Given the description of an element on the screen output the (x, y) to click on. 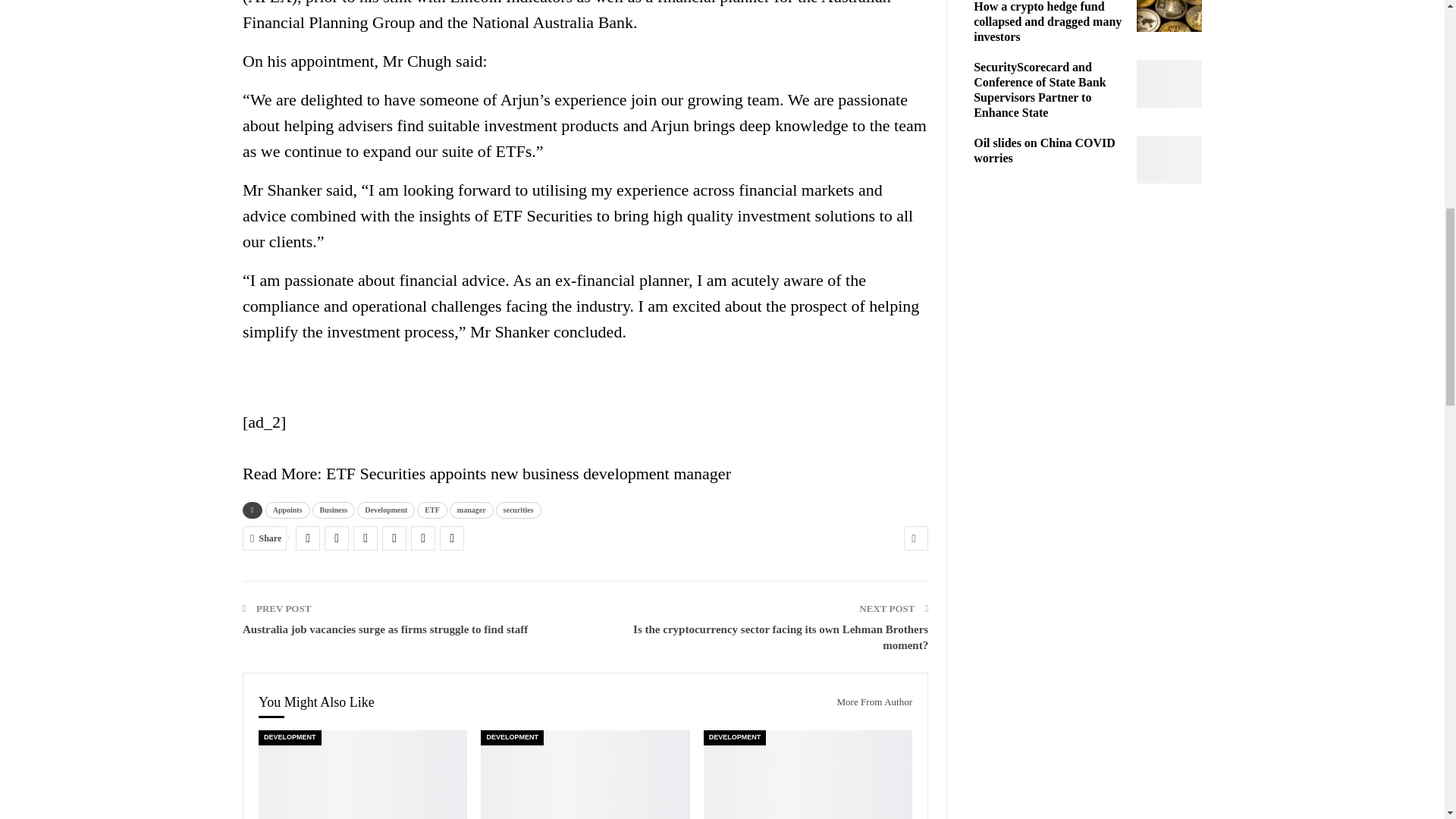
Appoints (287, 510)
manager (471, 510)
Development (385, 510)
ETF (431, 510)
securities (518, 510)
ETF Securities appoints new business development manager (528, 473)
Business (334, 510)
